Given the description of an element on the screen output the (x, y) to click on. 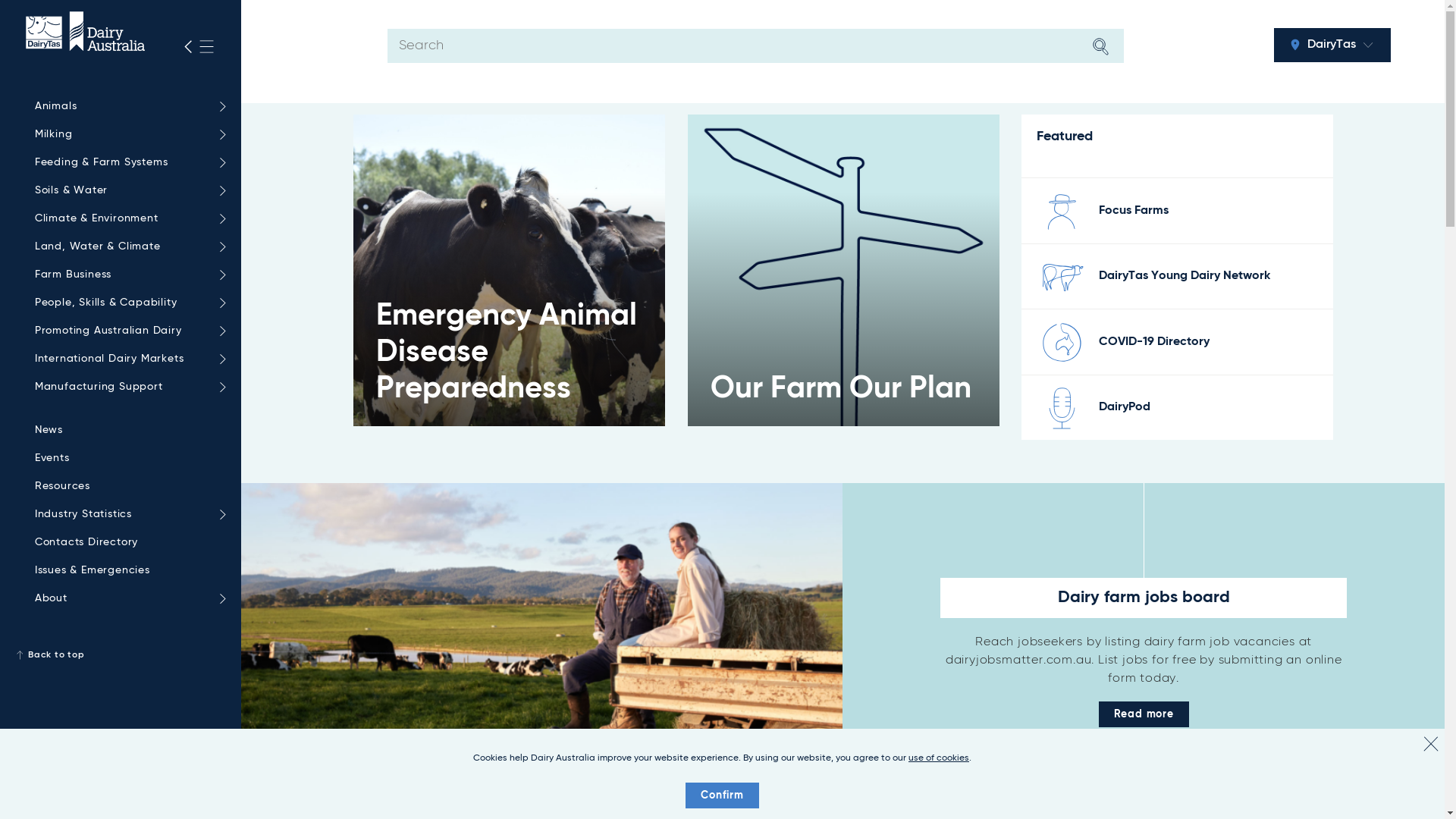
COVID-19 Directory Element type: text (1153, 341)
Land, Water & Climate Element type: text (126, 246)
Resources Element type: text (126, 486)
Confirm Element type: text (722, 795)
X Element type: text (1430, 743)
Focus Farms Element type: text (1133, 210)
Emergency Animal Disease Preparedness Element type: text (509, 270)
Events Element type: text (126, 458)
People, Skills & Capability Element type: text (126, 302)
Promoting Australian Dairy Element type: text (126, 330)
DairyPod Element type: text (1124, 407)
Contacts Directory Element type: text (126, 542)
Farm Business Element type: text (126, 274)
Industry Statistics Element type: text (126, 514)
Read more Element type: text (1143, 714)
Soils & Water Element type: text (126, 190)
Manufacturing Support Element type: text (126, 387)
About Element type: text (126, 598)
use of cookies Element type: text (938, 757)
DairyTas Element type: text (1332, 45)
Our Farm Our Plan Element type: text (843, 270)
Climate & Environment Element type: text (126, 218)
News Element type: text (126, 430)
DairyTas Young Dairy Network Element type: text (1184, 275)
Milking Element type: text (126, 134)
International Dairy Markets Element type: text (126, 359)
Animals Element type: text (126, 106)
Back to top Element type: text (120, 654)
Issues & Emergencies Element type: text (126, 570)
Feeding & Farm Systems Element type: text (126, 162)
